Given the description of an element on the screen output the (x, y) to click on. 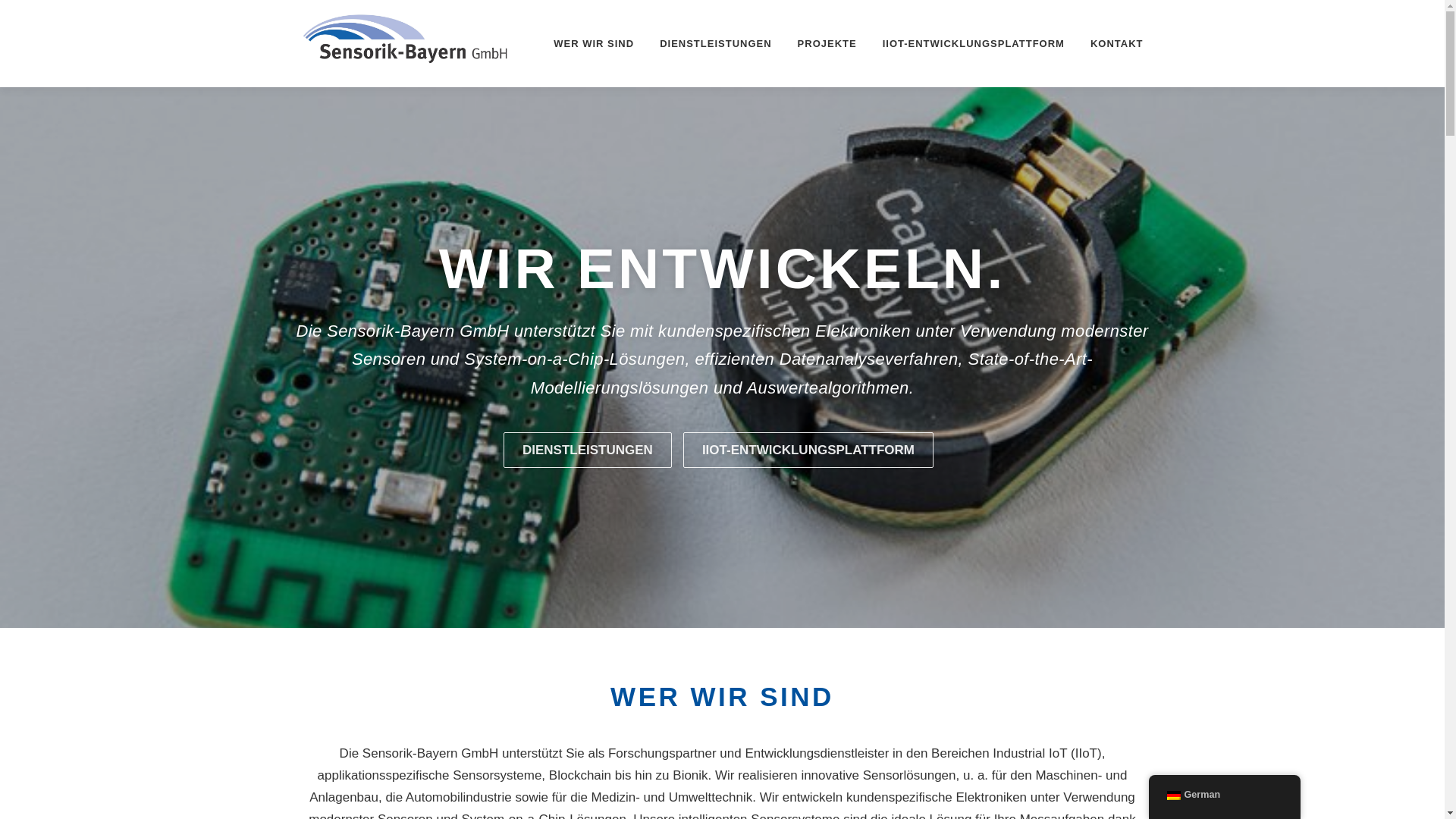
DIENSTLEISTUNGEN Element type: text (587, 449)
PROJEKTE Element type: text (826, 43)
German Element type: text (1223, 794)
IIOT-ENTWICKLUNGSPLATTFORM Element type: text (808, 449)
WER WIR SIND Element type: text (593, 43)
DIENSTLEISTUNGEN Element type: text (715, 43)
KONTAKT Element type: text (1110, 43)
German Element type: hover (1172, 795)
IIOT-ENTWICKLUNGSPLATTFORM Element type: text (973, 43)
